Given the description of an element on the screen output the (x, y) to click on. 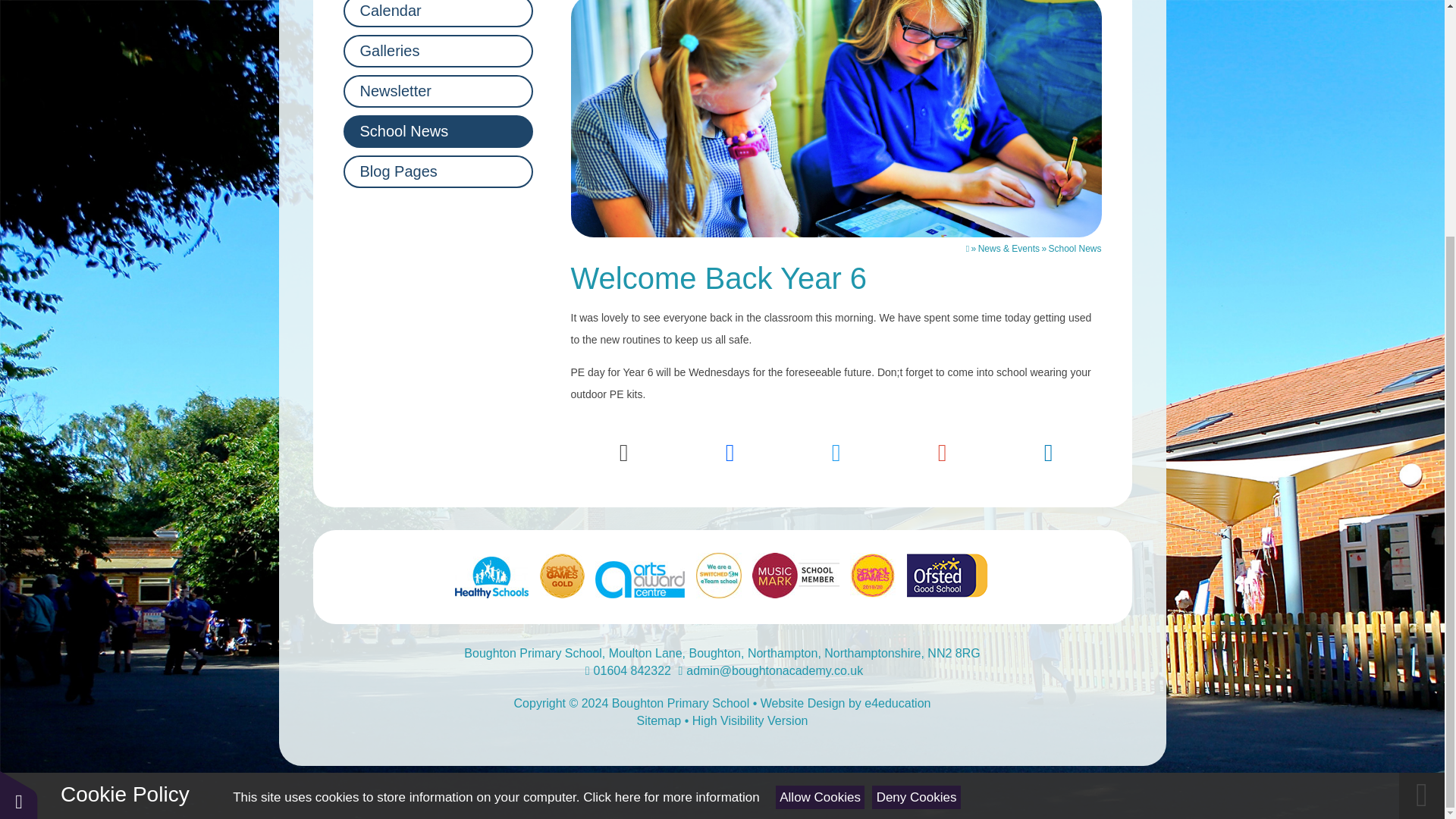
Allow Cookies (820, 474)
Deny Cookies (915, 474)
See cookie policy (670, 473)
